Given the description of an element on the screen output the (x, y) to click on. 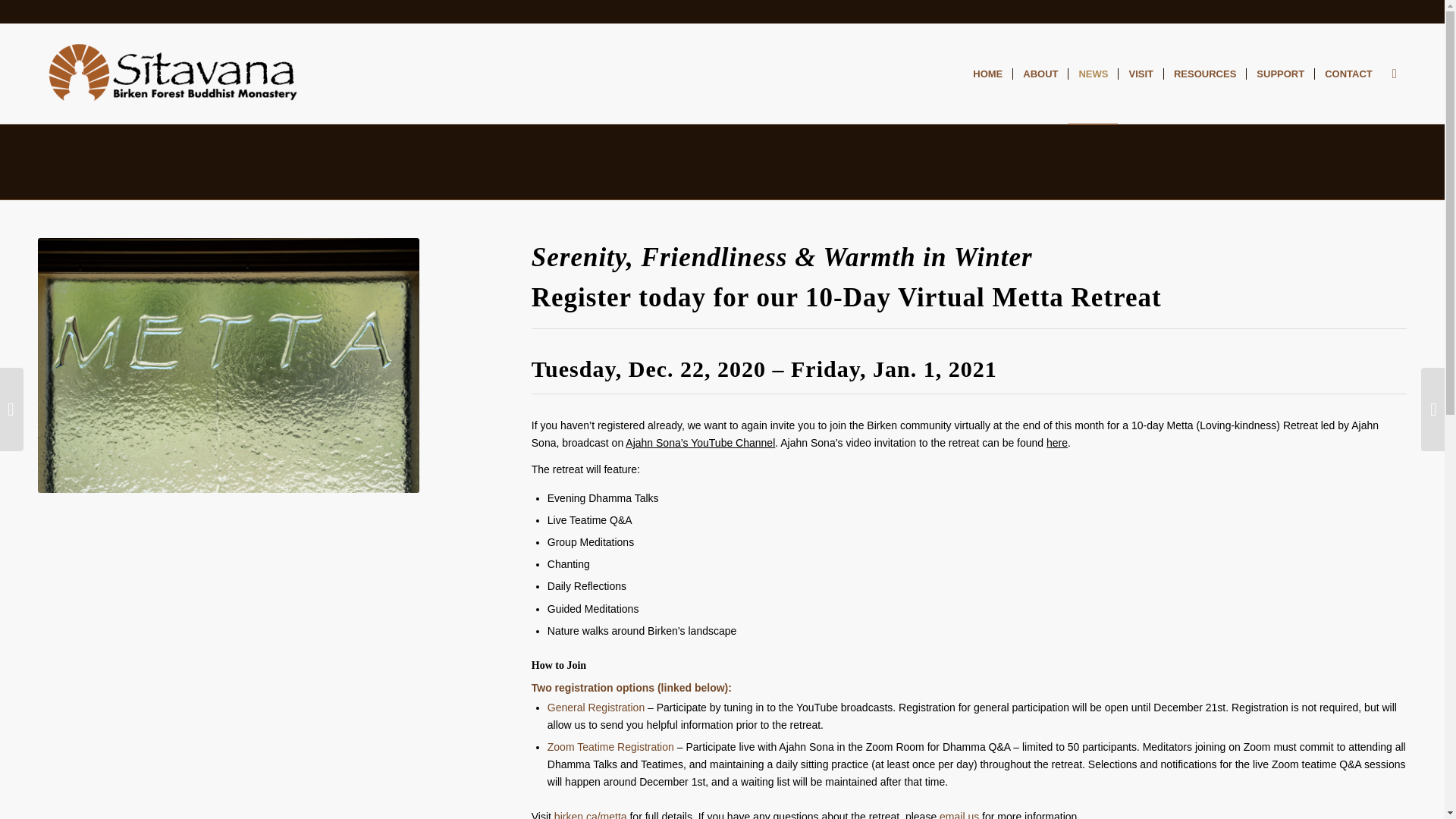
Birken 2019 LOGO (178, 73)
Zoom Teatime Registration (610, 746)
here (1056, 442)
email us (958, 814)
General Registration (596, 707)
